Given the description of an element on the screen output the (x, y) to click on. 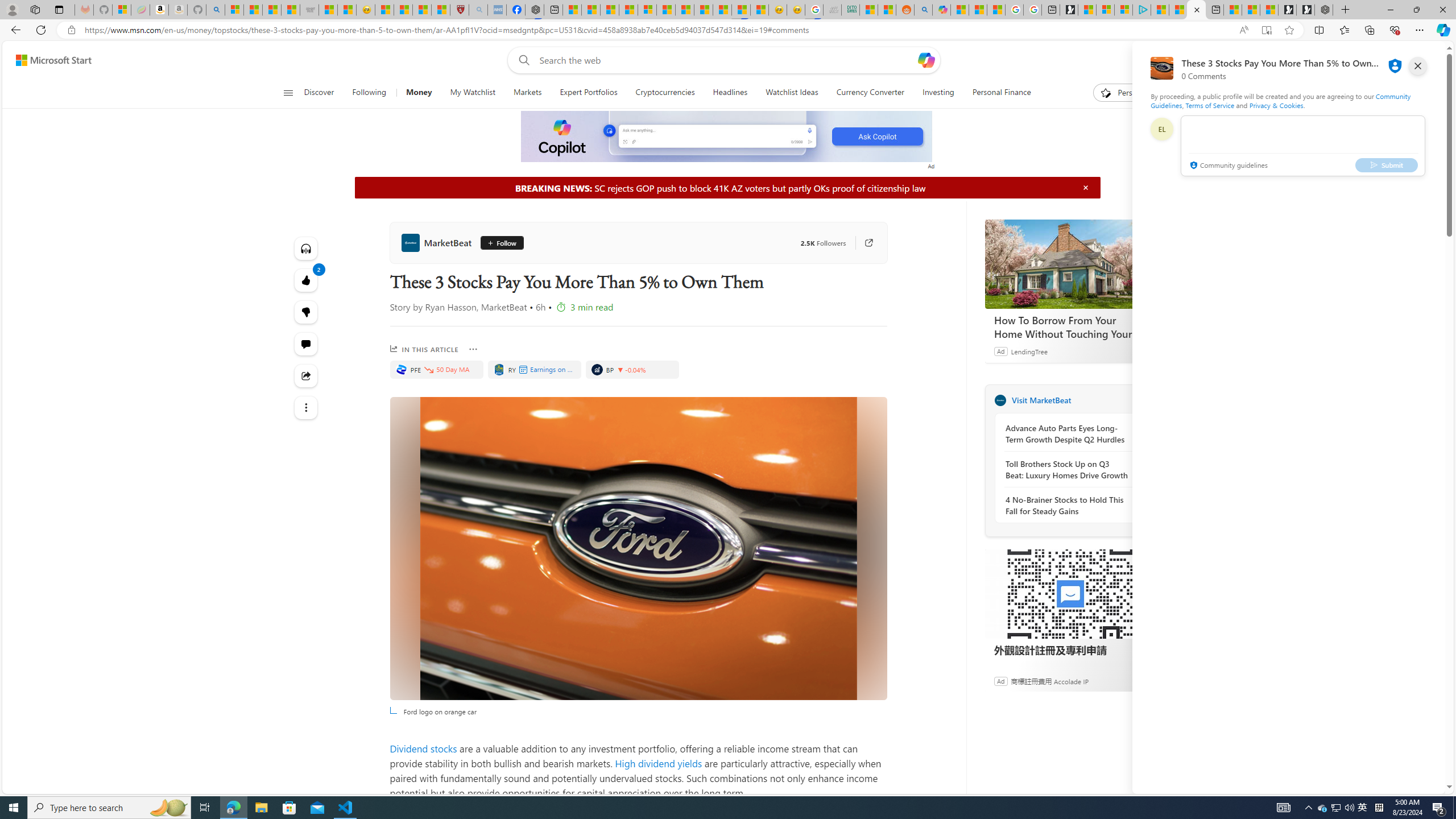
Class: at-item (305, 407)
Headlines (729, 92)
Share this story (305, 375)
Cryptocurrencies (665, 92)
MarketBeat (1000, 399)
Toll Brothers Stock Up on Q3 Beat: Luxury Homes Drive Growth (1066, 469)
Listen to this article (305, 248)
Navy Quest (831, 9)
Submit (1386, 164)
Currency Converter (869, 92)
